Given the description of an element on the screen output the (x, y) to click on. 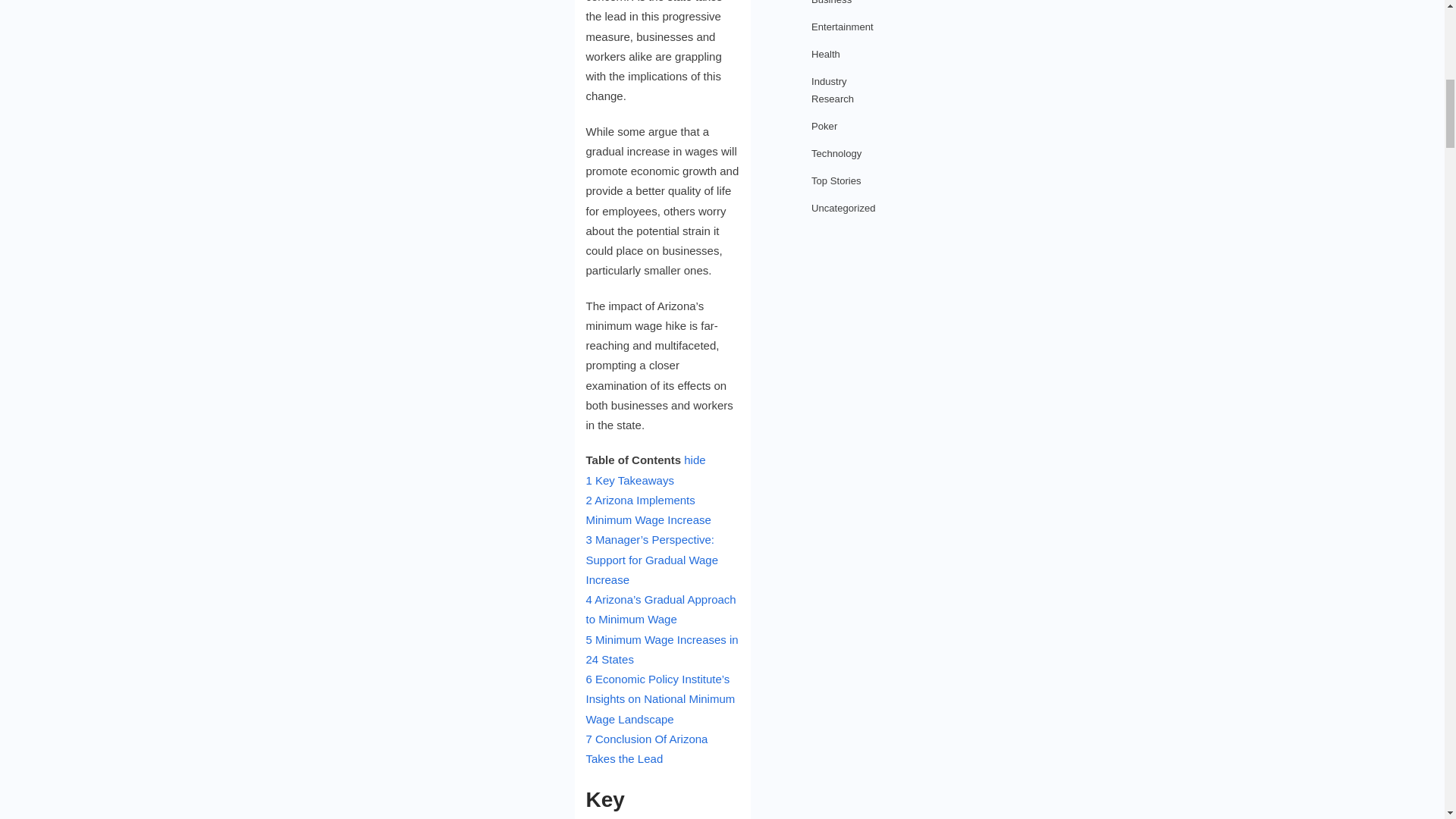
hide (694, 459)
5 Minimum Wage Increases in 24 States (661, 649)
2 Arizona Implements Minimum Wage Increase (647, 509)
7 Conclusion Of Arizona Takes the Lead (646, 748)
1 Key Takeaways (628, 480)
